Given the description of an element on the screen output the (x, y) to click on. 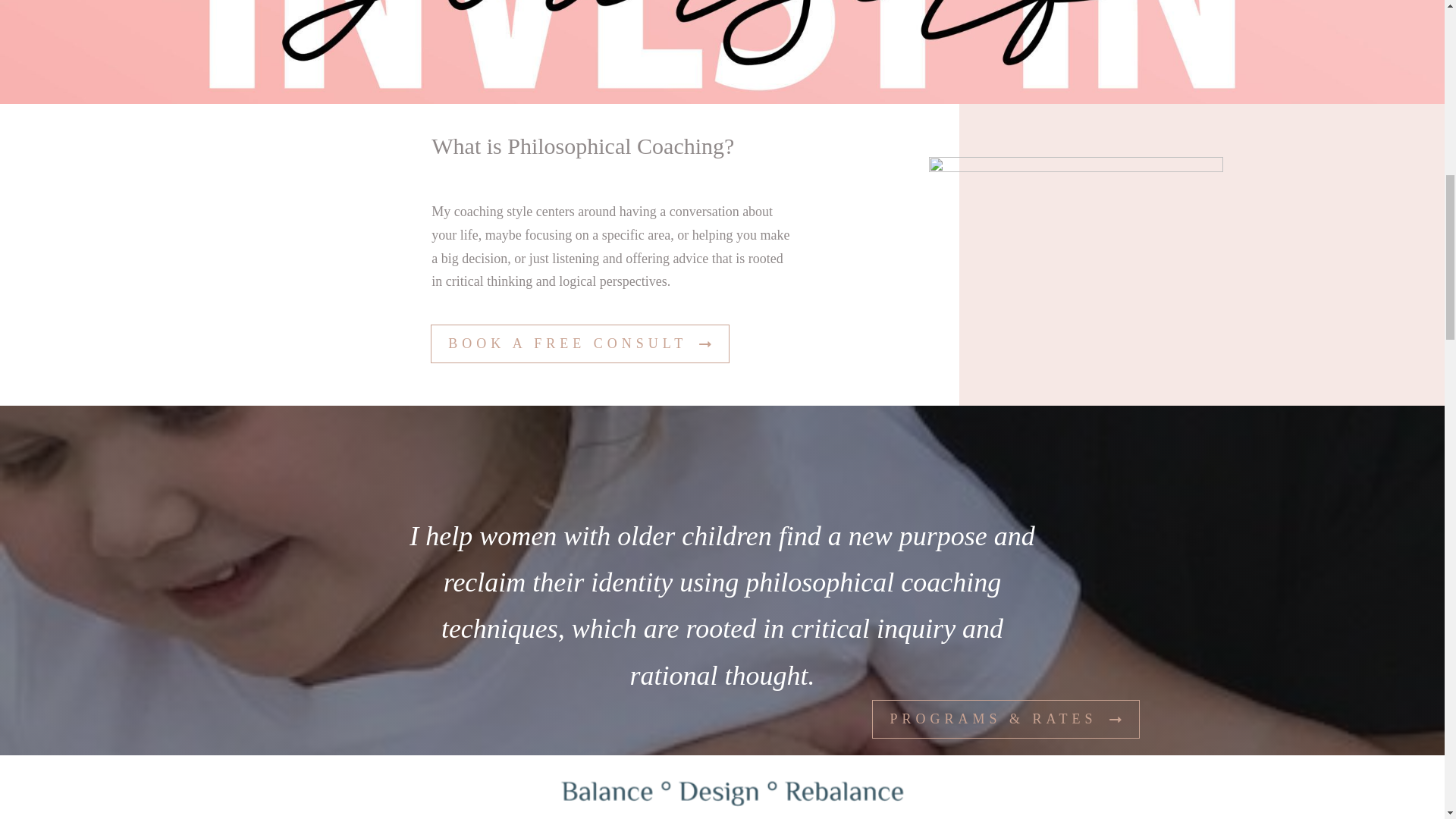
Infographic (722, 787)
BOOK A FREE CONSULT (579, 343)
